Given the description of an element on the screen output the (x, y) to click on. 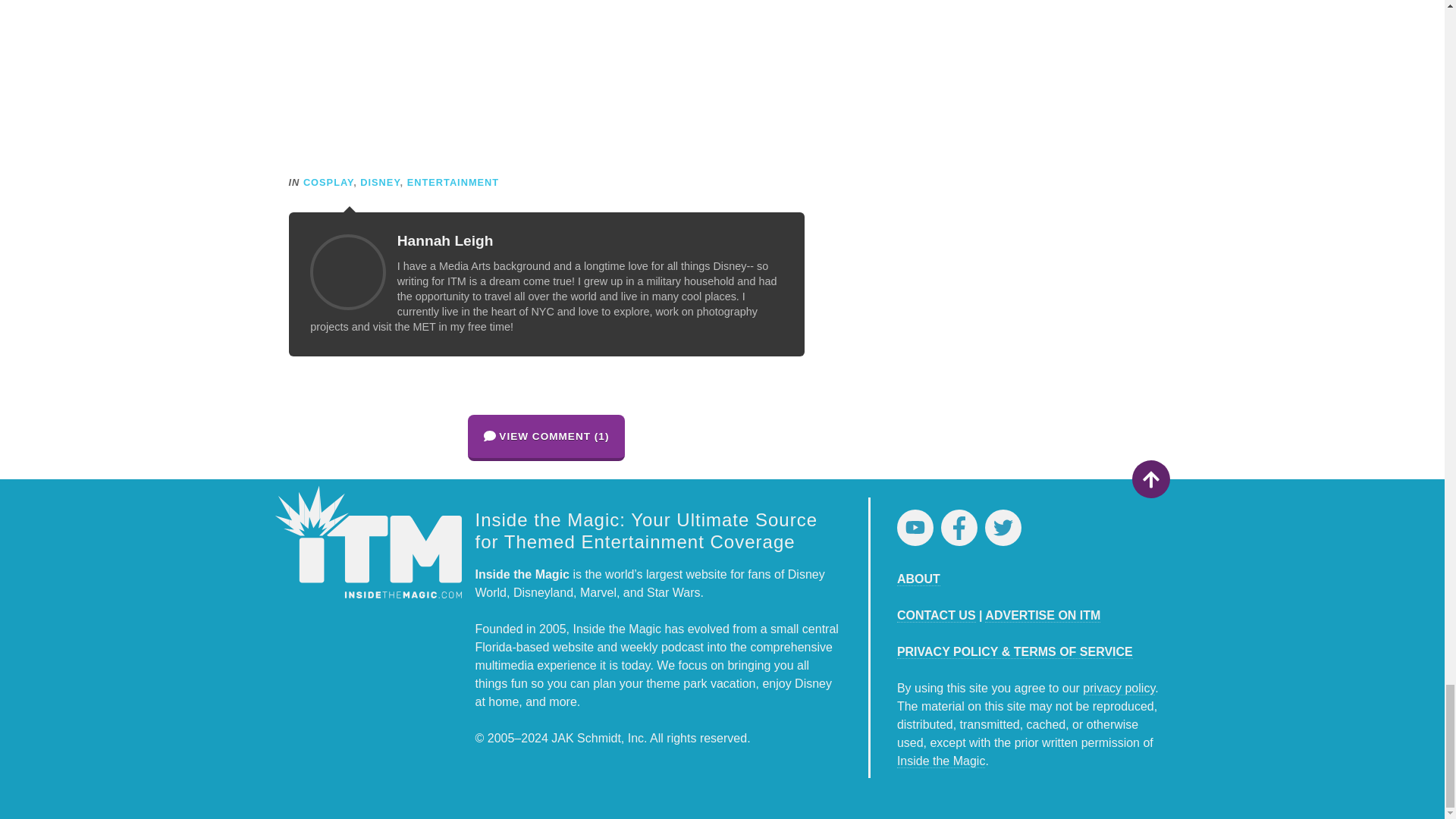
Return to Top (1150, 478)
